Given the description of an element on the screen output the (x, y) to click on. 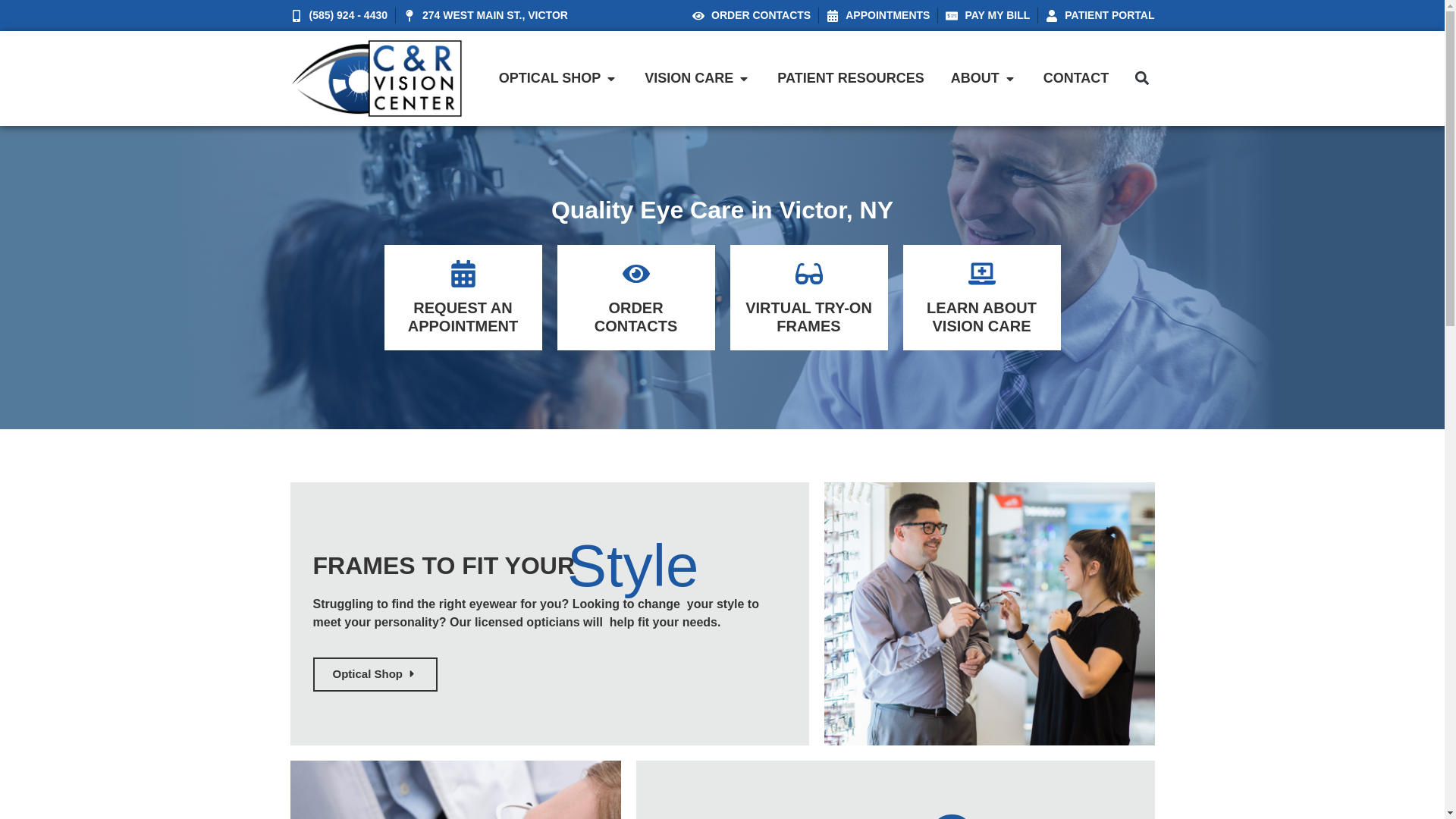
PAY MY BILL (986, 15)
VISION CARE (689, 77)
APPOINTMENTS (878, 15)
Optical Shop (375, 674)
PATIENT RESOURCES (850, 77)
ABOUT (974, 77)
CONTACT (1076, 77)
PATIENT PORTAL (1099, 15)
OPTICAL SHOP (550, 77)
ORDER CONTACTS (751, 15)
VIRTUAL TRY-ON FRAMES (808, 316)
LEARN ABOUT VISION CARE (981, 316)
REQUEST AN APPOINTMENT (462, 316)
ORDER CONTACTS (636, 316)
